Given the description of an element on the screen output the (x, y) to click on. 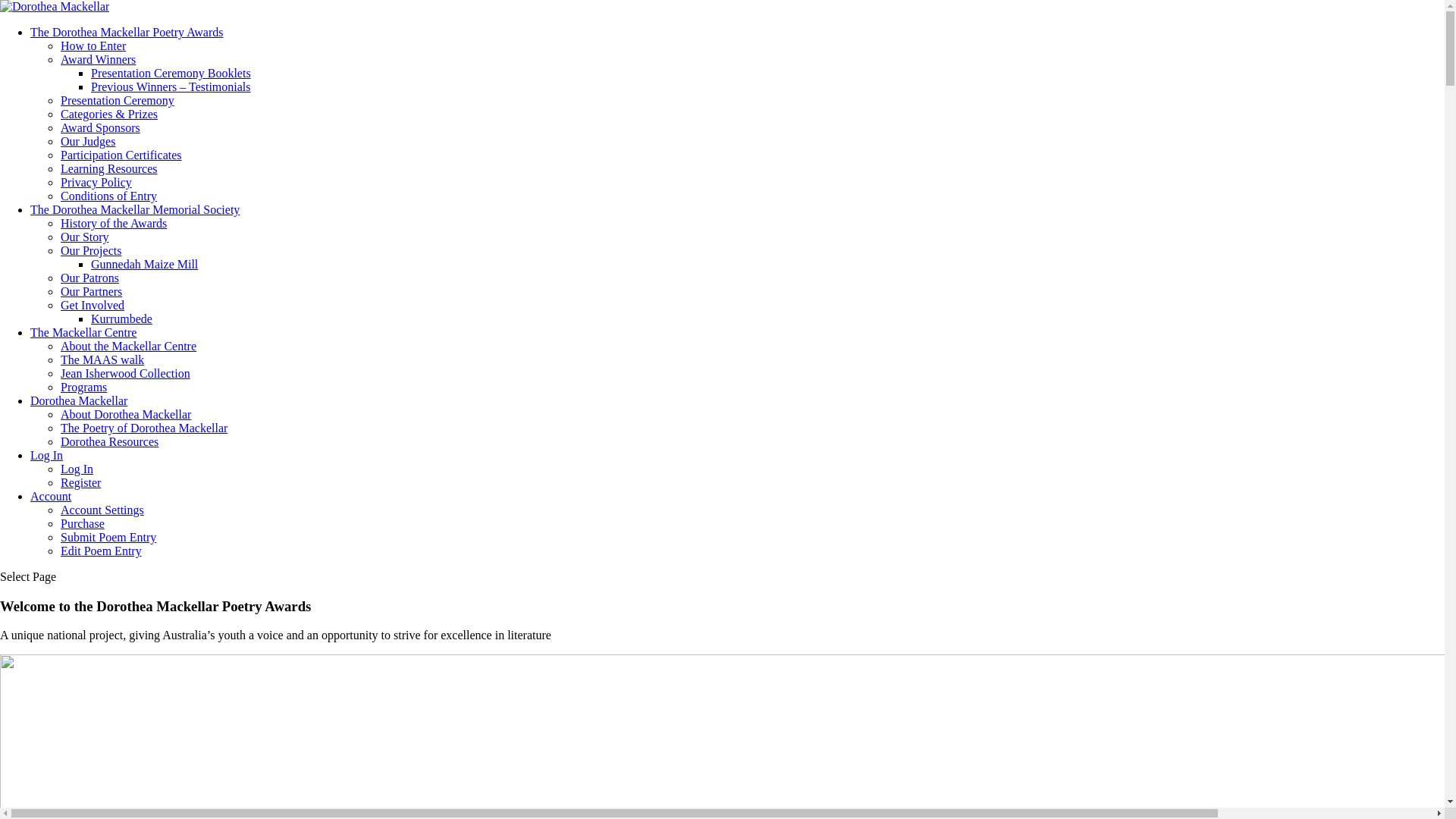
The Dorothea Mackellar Memorial Society Element type: text (134, 209)
About Dorothea Mackellar Element type: text (125, 413)
Dorothea Resources Element type: text (109, 441)
Presentation Ceremony Element type: text (117, 100)
The Mackellar Centre Element type: text (83, 332)
Conditions of Entry Element type: text (108, 195)
Log In Element type: text (76, 468)
The Poetry of Dorothea Mackellar Element type: text (143, 427)
Account Settings Element type: text (102, 509)
Our Judges Element type: text (87, 140)
Purchase Element type: text (82, 523)
Presentation Ceremony Booklets Element type: text (171, 72)
Jean Isherwood Collection Element type: text (125, 373)
About the Mackellar Centre Element type: text (128, 345)
How to Enter Element type: text (92, 45)
Our Projects Element type: text (90, 250)
Our Patrons Element type: text (89, 277)
Log In Element type: text (46, 454)
Our Story Element type: text (84, 236)
Dorothea Mackellar Element type: text (78, 400)
Privacy Policy Element type: text (95, 181)
Learning Resources Element type: text (108, 168)
Register Element type: text (80, 482)
History of the Awards Element type: text (113, 222)
Award Sponsors Element type: text (100, 127)
Our Partners Element type: text (91, 291)
The Dorothea Mackellar Poetry Awards Element type: text (126, 31)
Award Winners Element type: text (97, 59)
Account Element type: text (50, 495)
Get Involved Element type: text (92, 304)
Edit Poem Entry Element type: text (100, 550)
Submit Poem Entry Element type: text (108, 536)
Gunnedah Maize Mill Element type: text (144, 263)
Programs Element type: text (83, 386)
Participation Certificates Element type: text (121, 154)
Categories & Prizes Element type: text (108, 113)
Kurrumbede Element type: text (121, 318)
The MAAS walk Element type: text (102, 359)
